Given the description of an element on the screen output the (x, y) to click on. 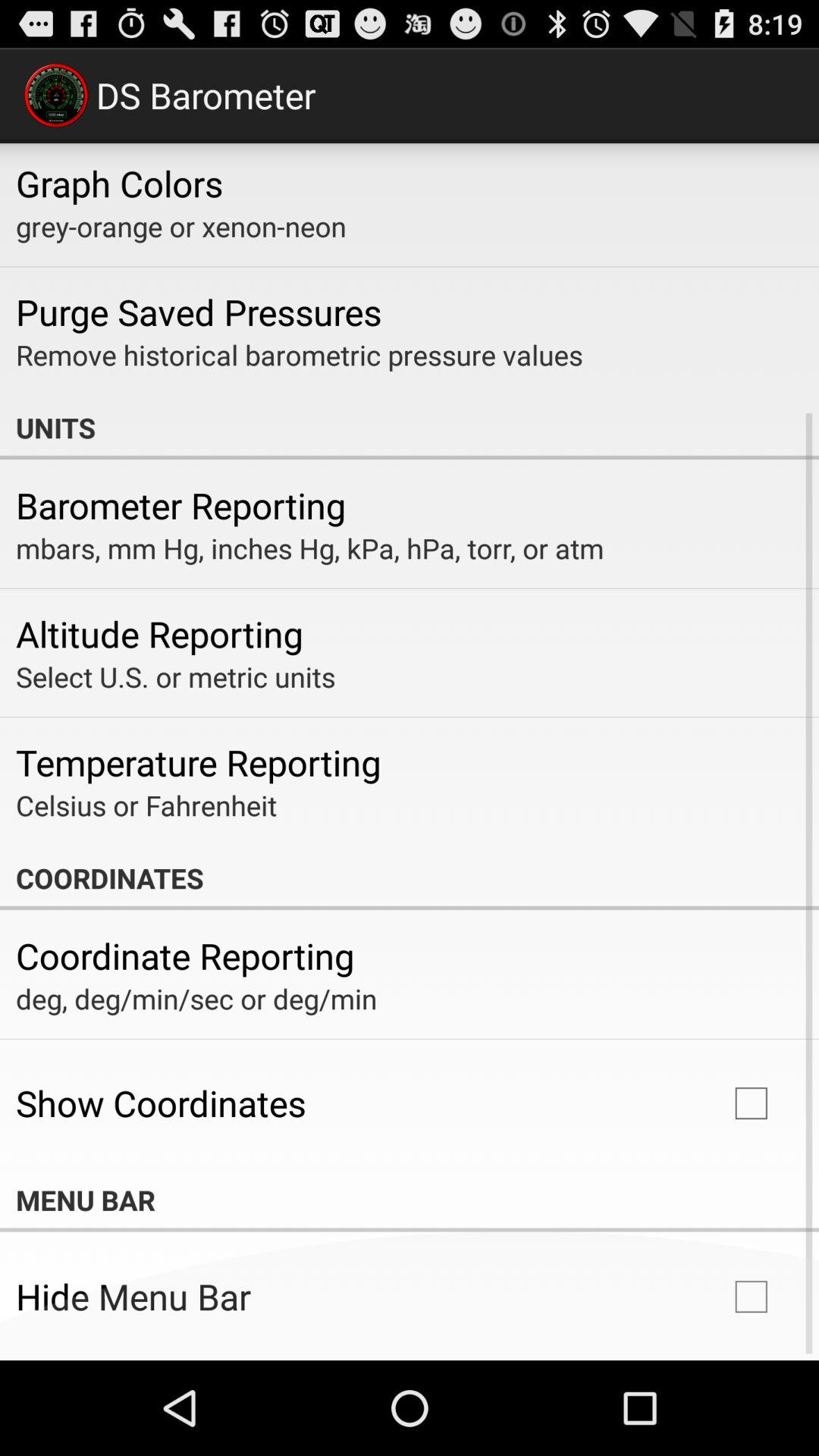
flip to the barometer reporting (180, 505)
